Given the description of an element on the screen output the (x, y) to click on. 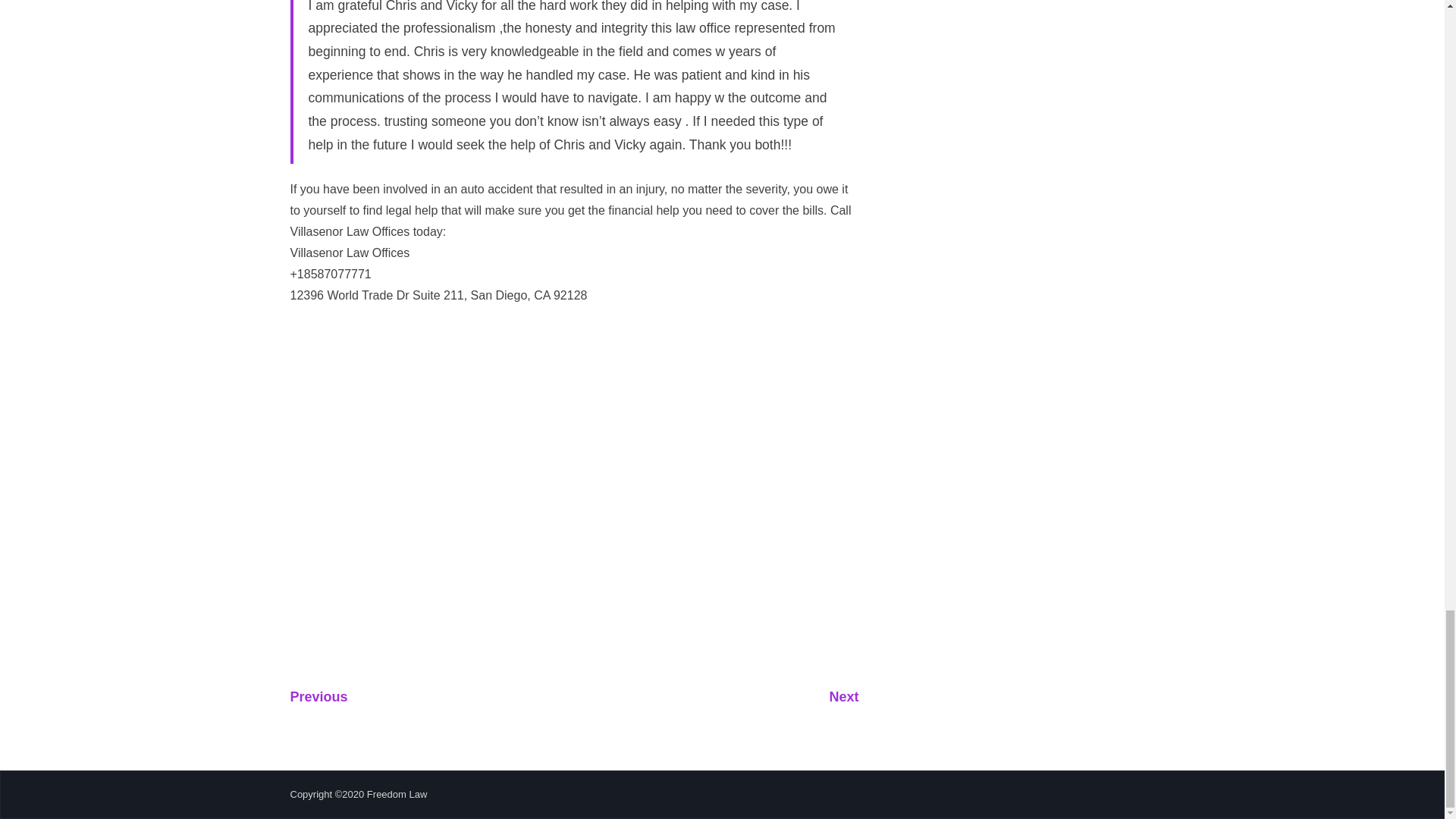
Next (843, 696)
Previous (318, 696)
